Given the description of an element on the screen output the (x, y) to click on. 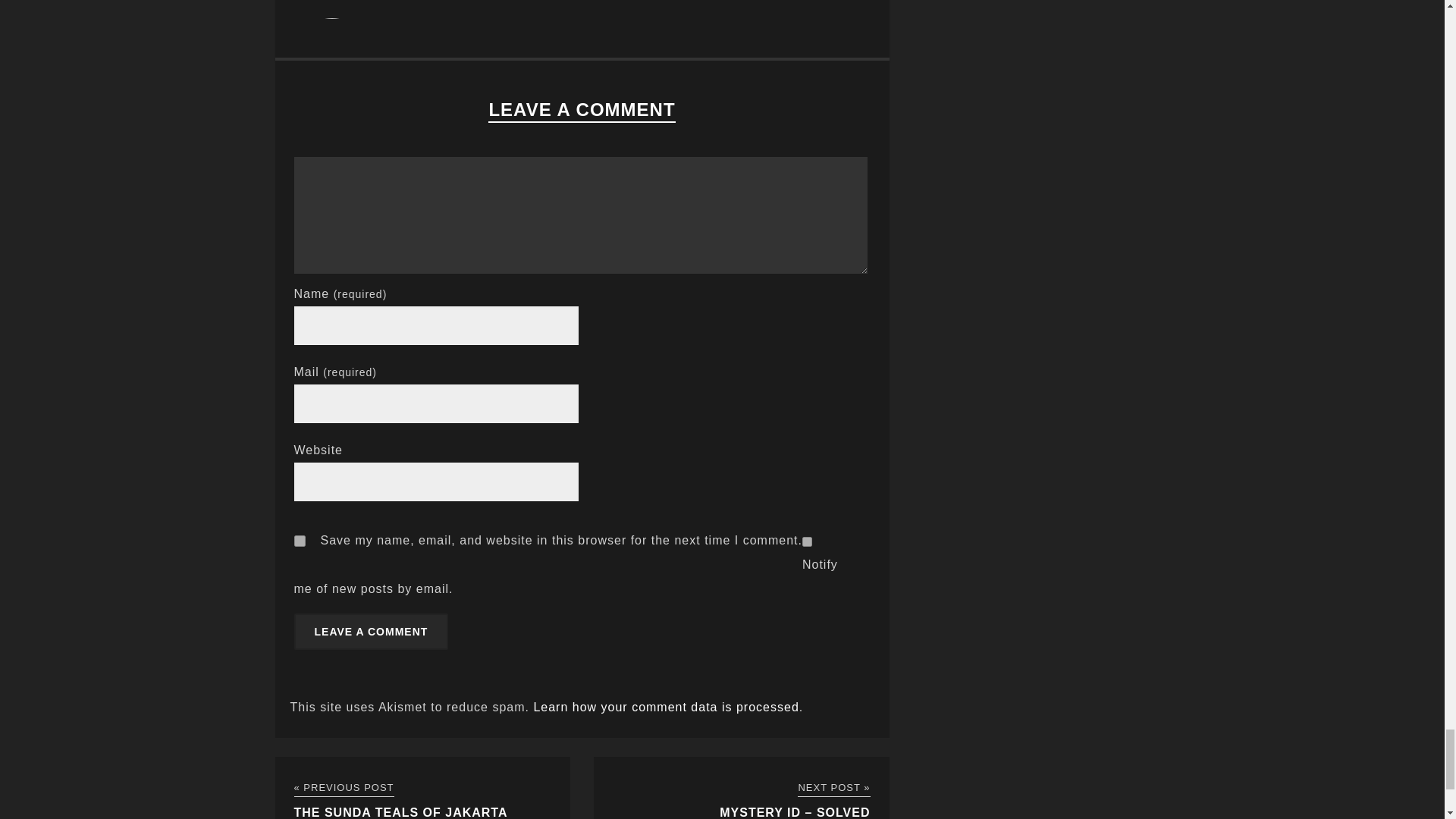
Leave a Comment (371, 631)
yes (299, 541)
